Given the description of an element on the screen output the (x, y) to click on. 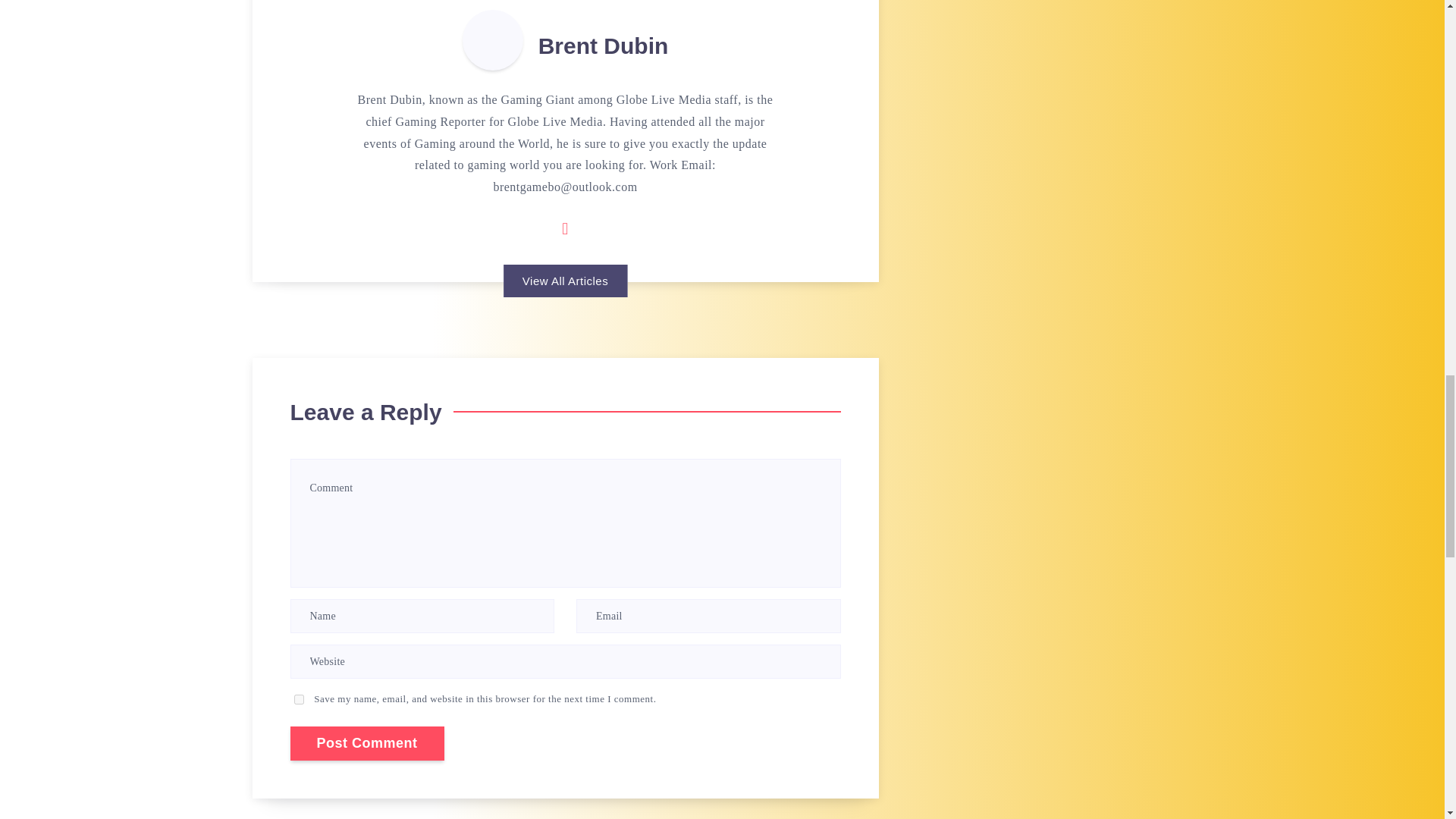
Author: Brent Dubin (492, 39)
yes (299, 699)
Post Comment (366, 743)
